Given the description of an element on the screen output the (x, y) to click on. 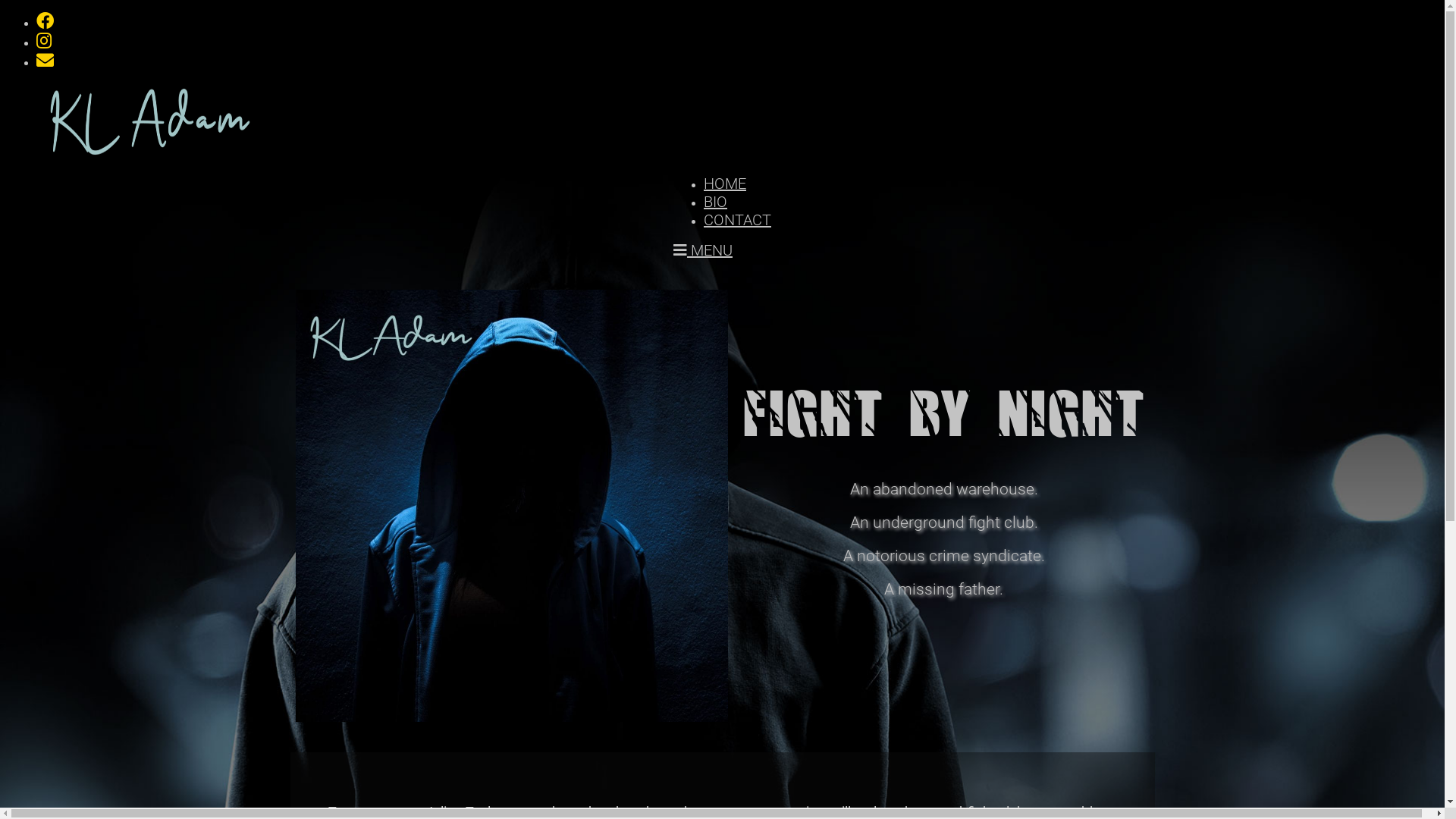
Email Element type: hover (44, 60)
Instagram Element type: hover (43, 40)
CONTACT Element type: text (737, 219)
Facebook Element type: hover (44, 21)
MENU Element type: text (702, 250)
HOME Element type: text (724, 183)
BIO Element type: text (715, 201)
